Given the description of an element on the screen output the (x, y) to click on. 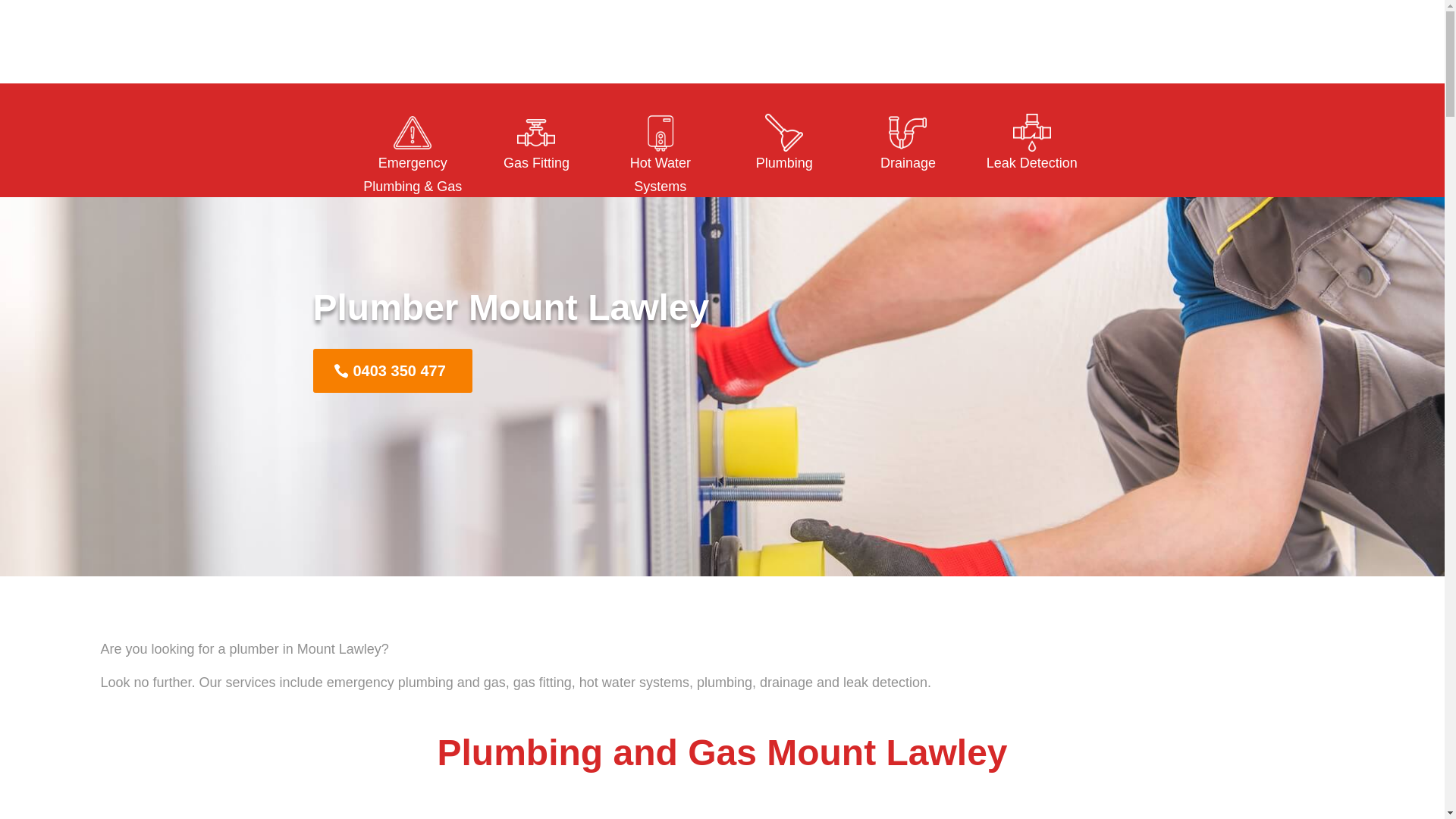
0403 350 477 Element type: text (391, 370)
emergency-plumbing-and-gas Element type: hover (412, 132)
leak-detection-plumbing-and-gas Element type: hover (1032, 132)
plumbing-plunger Element type: hover (784, 132)
gas-fitting-plumbing-and-gas Element type: hover (536, 132)
water-heater-plumbing-and-gas Element type: hover (660, 132)
drainage-plumbing Element type: hover (907, 132)
